Given the description of an element on the screen output the (x, y) to click on. 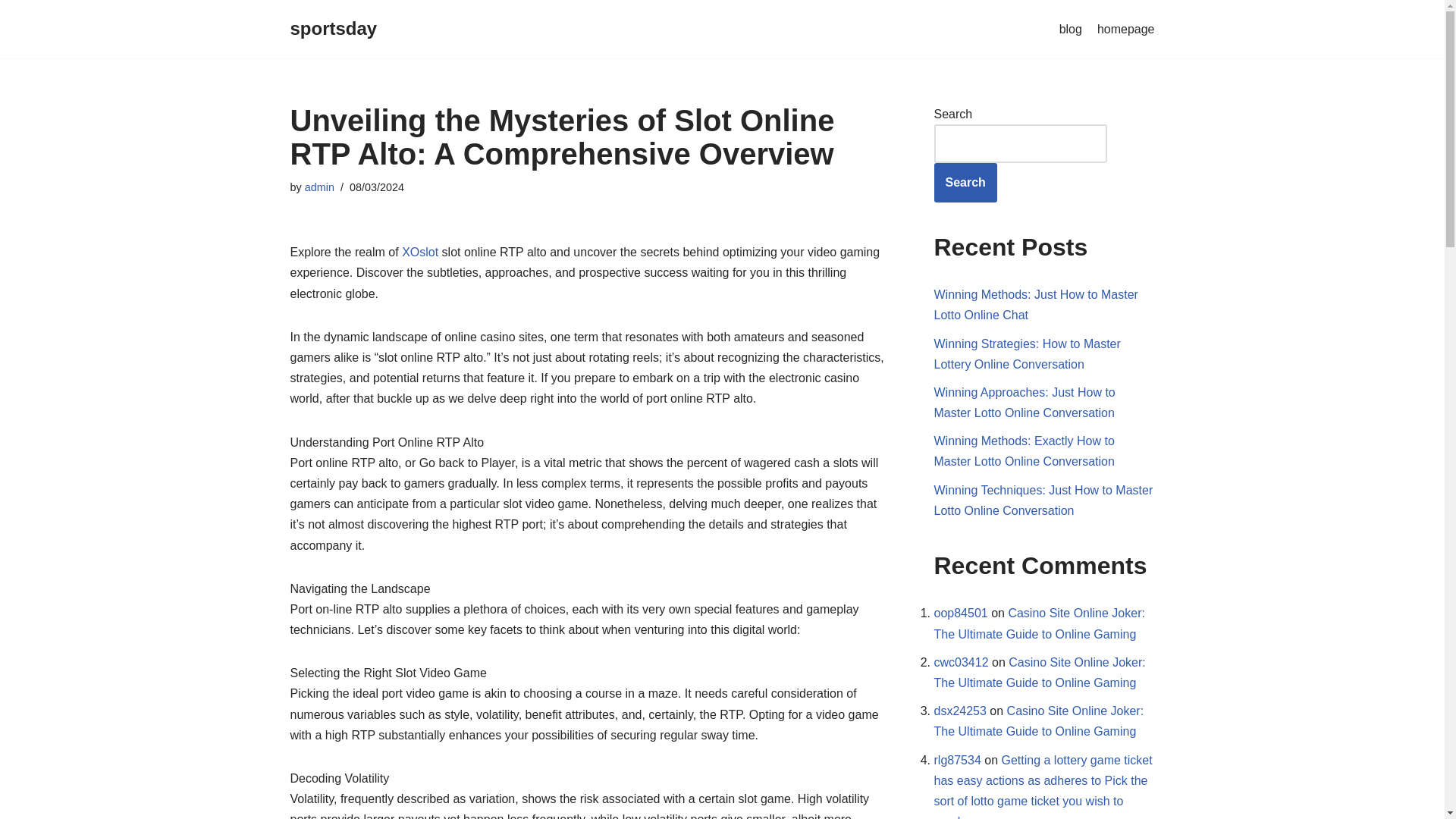
Posts by admin (319, 186)
sportsday (333, 29)
XOslot (419, 251)
oop84501 (961, 612)
Search (965, 182)
Skip to content (11, 31)
cwc03412 (961, 662)
blog (1070, 29)
rlg87534 (957, 759)
homepage (1125, 29)
admin (319, 186)
